Given the description of an element on the screen output the (x, y) to click on. 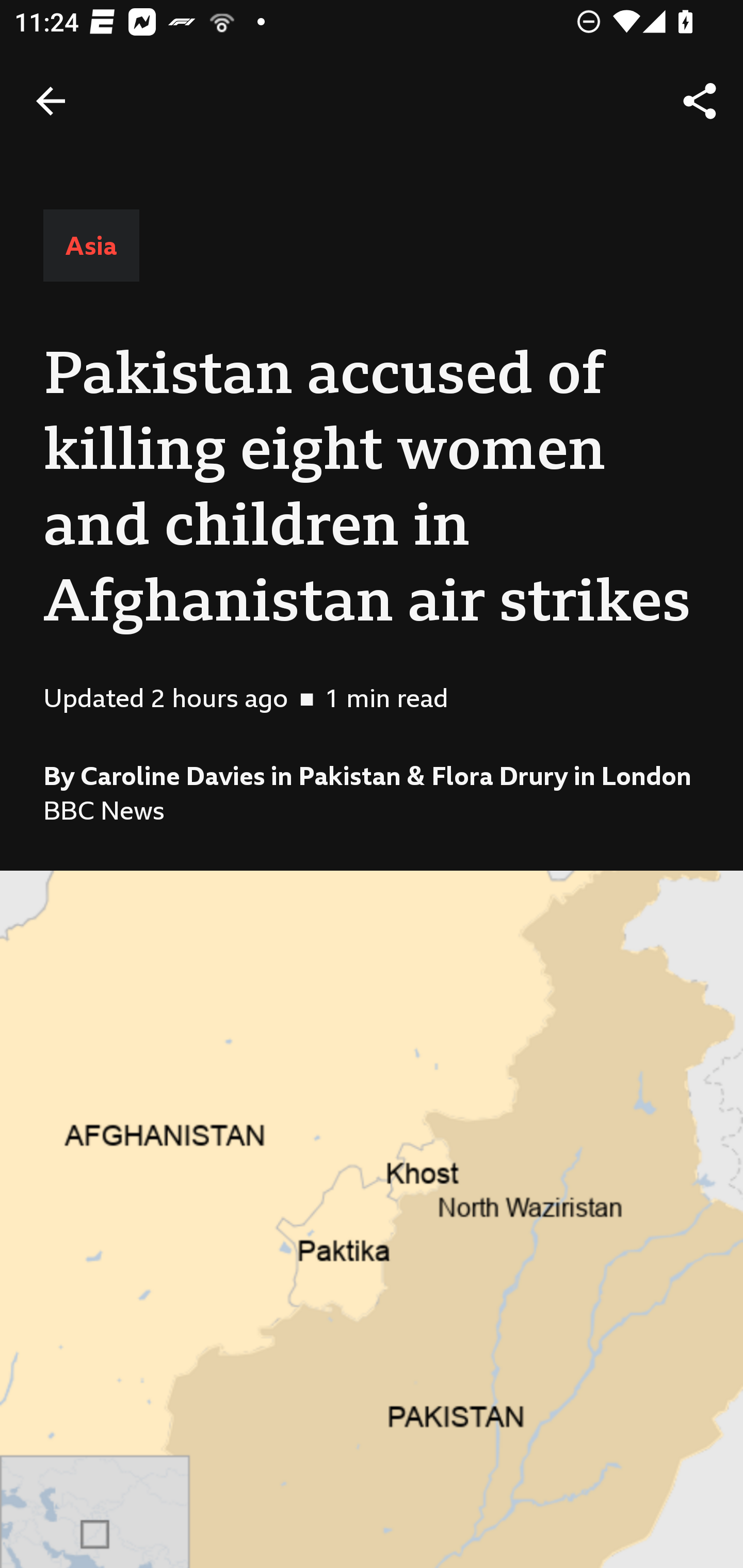
Back (50, 101)
Share (699, 101)
Asia (91, 245)
Map (371, 1219)
